Given the description of an element on the screen output the (x, y) to click on. 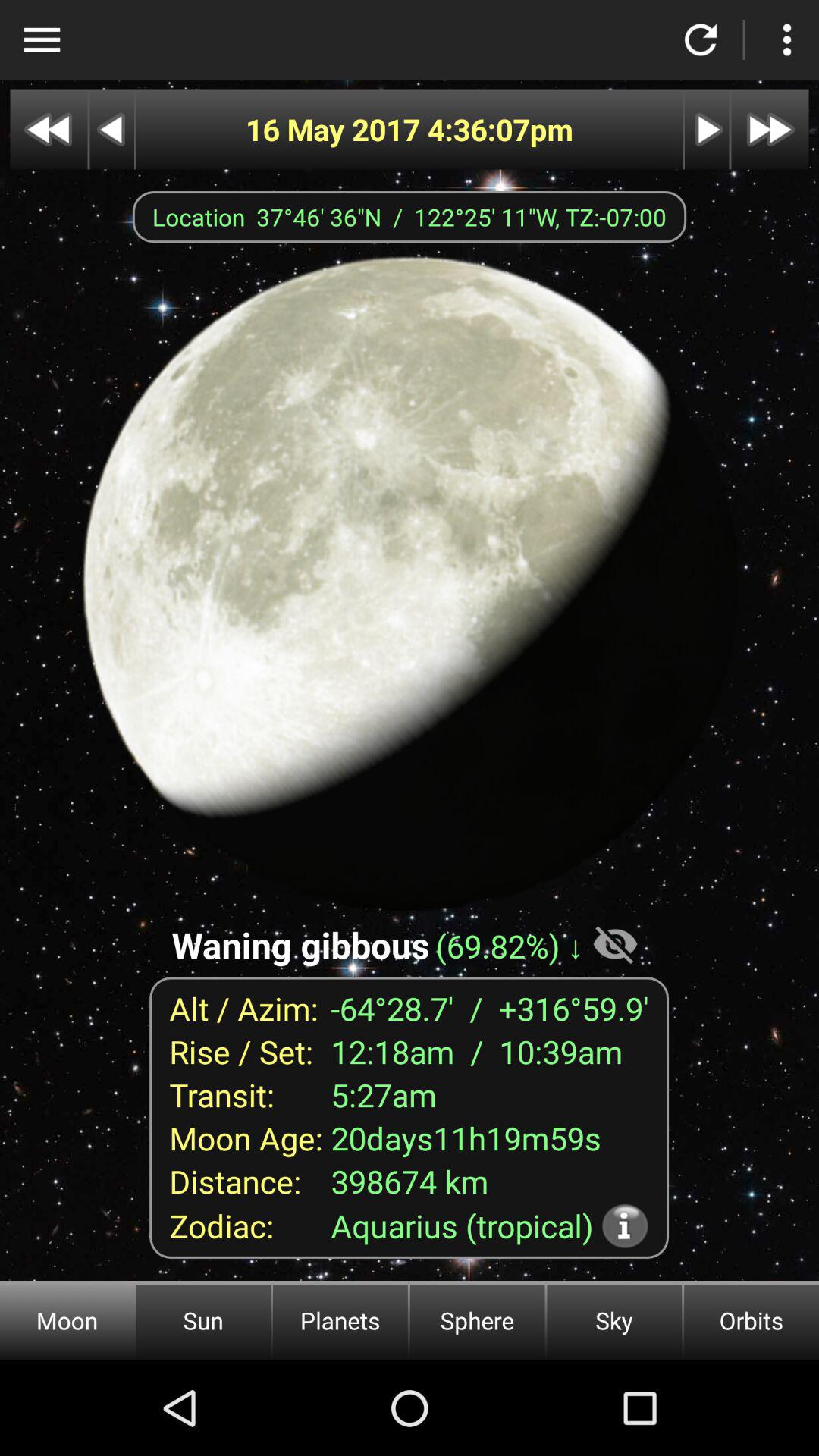
refresh (700, 39)
